Given the description of an element on the screen output the (x, y) to click on. 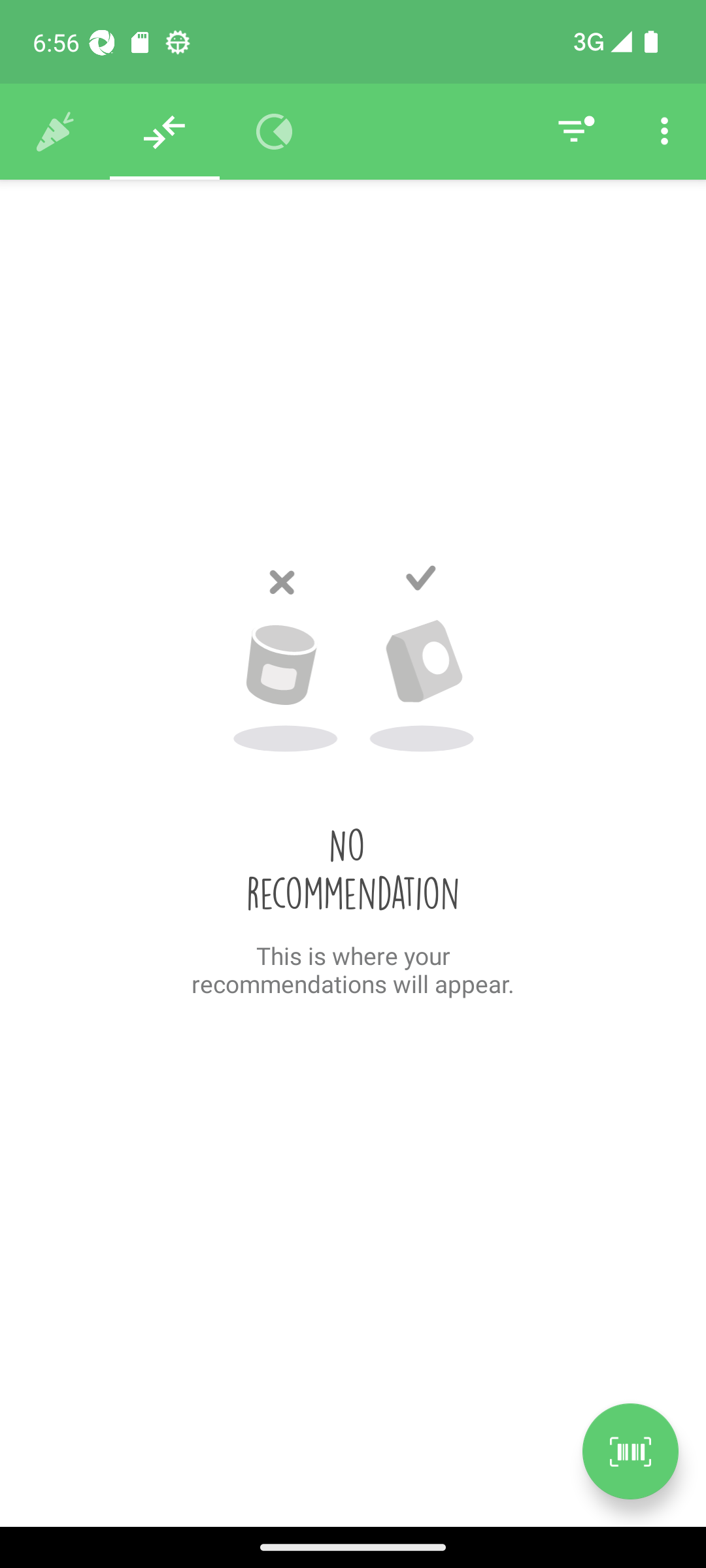
History (55, 131)
Overview (274, 131)
Filter (573, 131)
Settings (664, 131)
Scan a product (630, 1451)
